Given the description of an element on the screen output the (x, y) to click on. 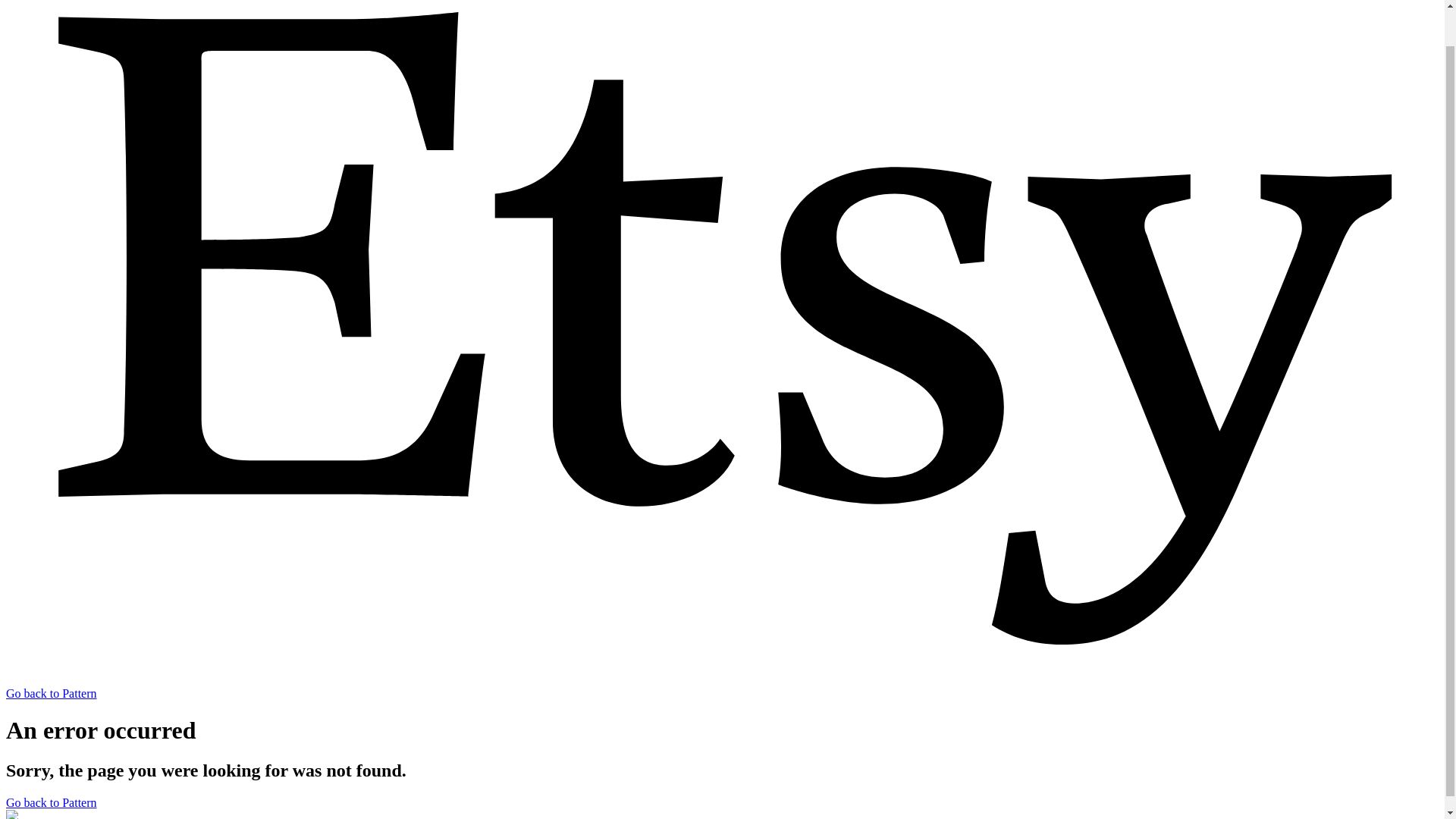
Go back to Pattern (51, 802)
